Given the description of an element on the screen output the (x, y) to click on. 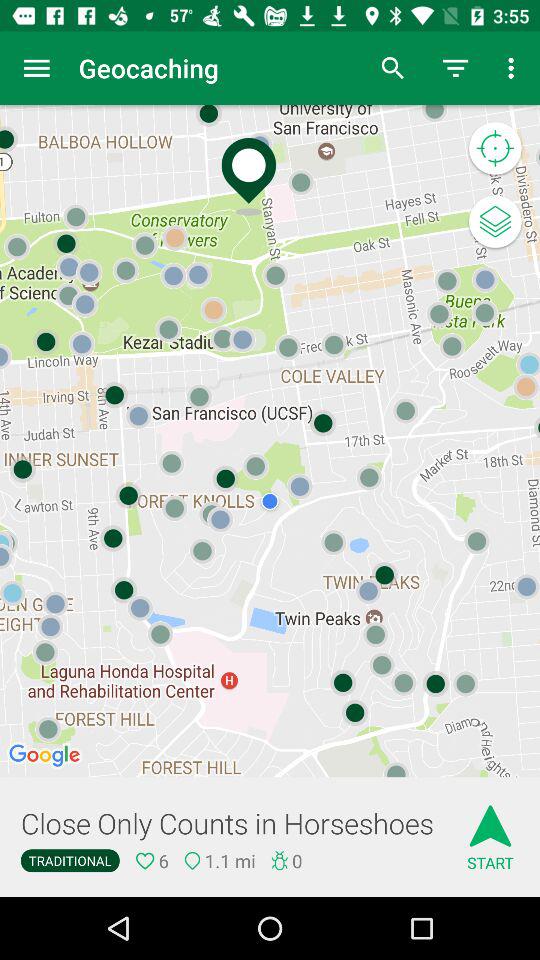
tap item to the left of the 6 icon (70, 860)
